Given the description of an element on the screen output the (x, y) to click on. 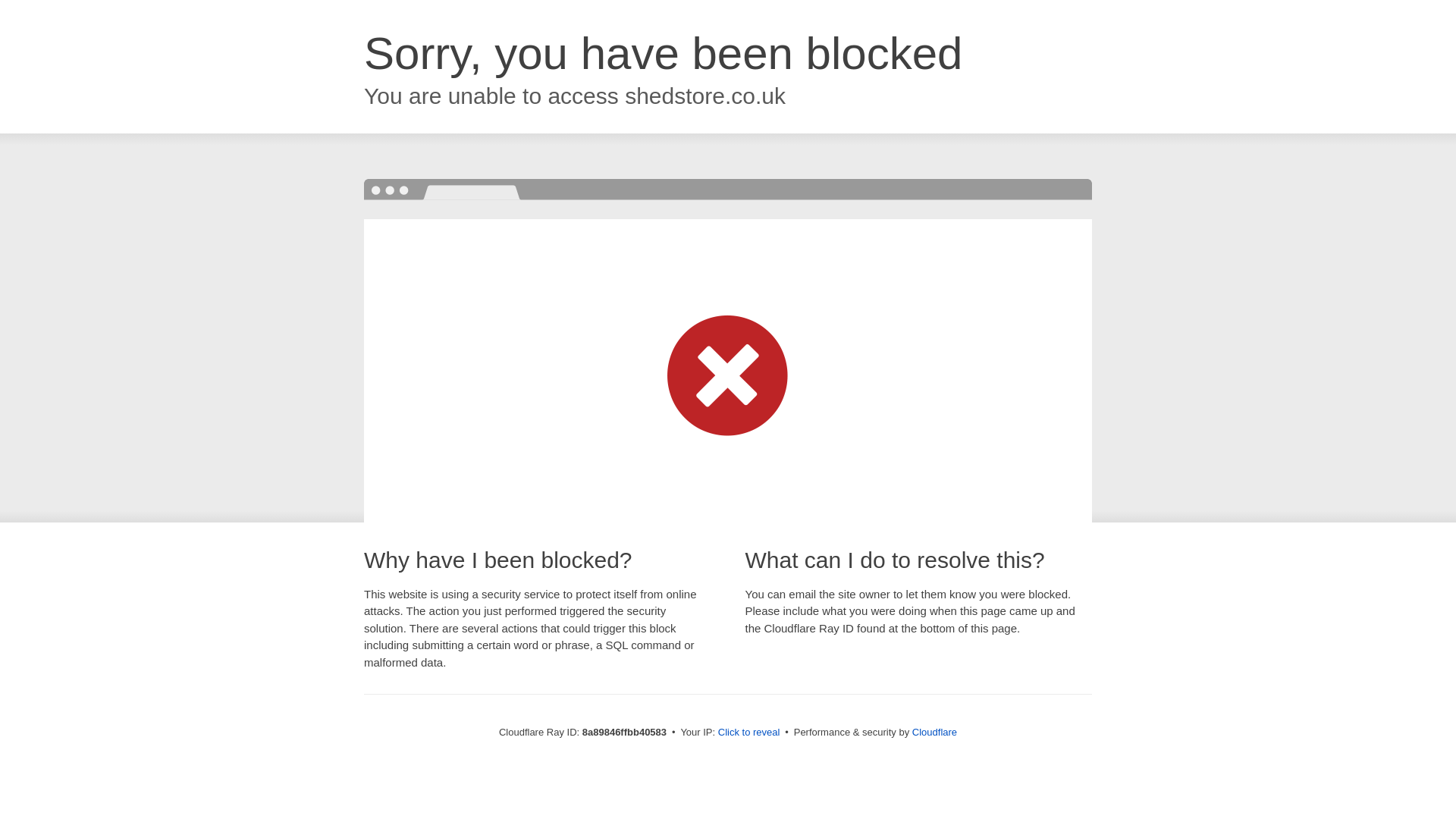
Click to reveal (748, 732)
Cloudflare (934, 731)
